Given the description of an element on the screen output the (x, y) to click on. 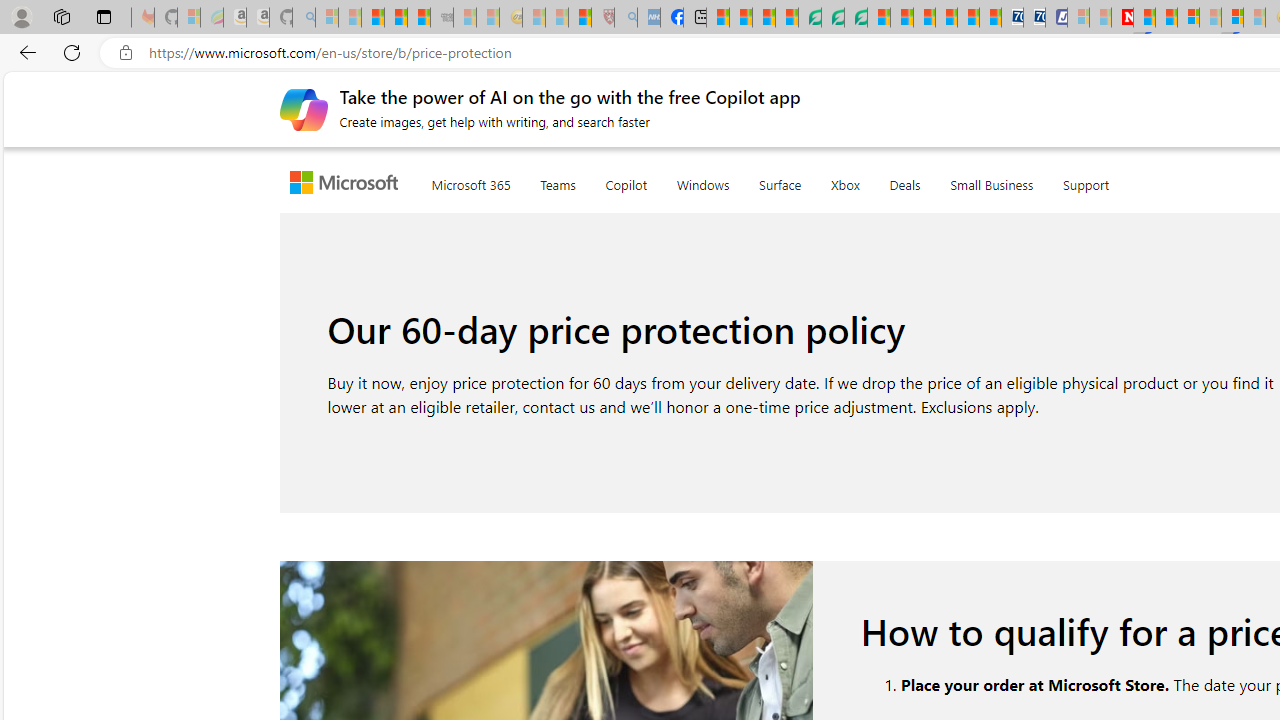
Terms of Use Agreement (832, 17)
Surface (780, 180)
Support (1085, 181)
Support (1085, 180)
Create images, get help with writing, and search faster (303, 108)
Microsoft Start - Sleeping (1100, 17)
Trusted Community Engagement and Contributions | Guidelines (1144, 17)
Teams (557, 181)
Latest Politics News & Archive | Newsweek.com (1122, 17)
